Given the description of an element on the screen output the (x, y) to click on. 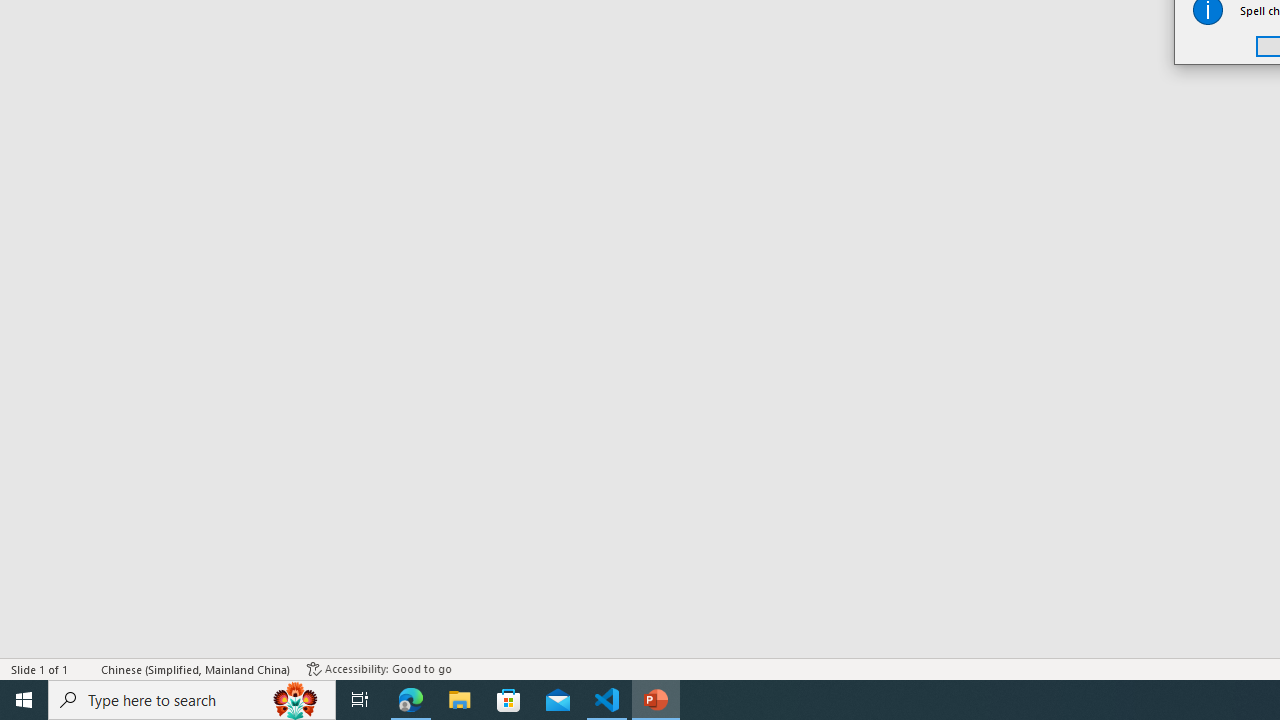
Spell Check  (86, 668)
Accessibility Checker Accessibility: Good to go (379, 668)
